Given the description of an element on the screen output the (x, y) to click on. 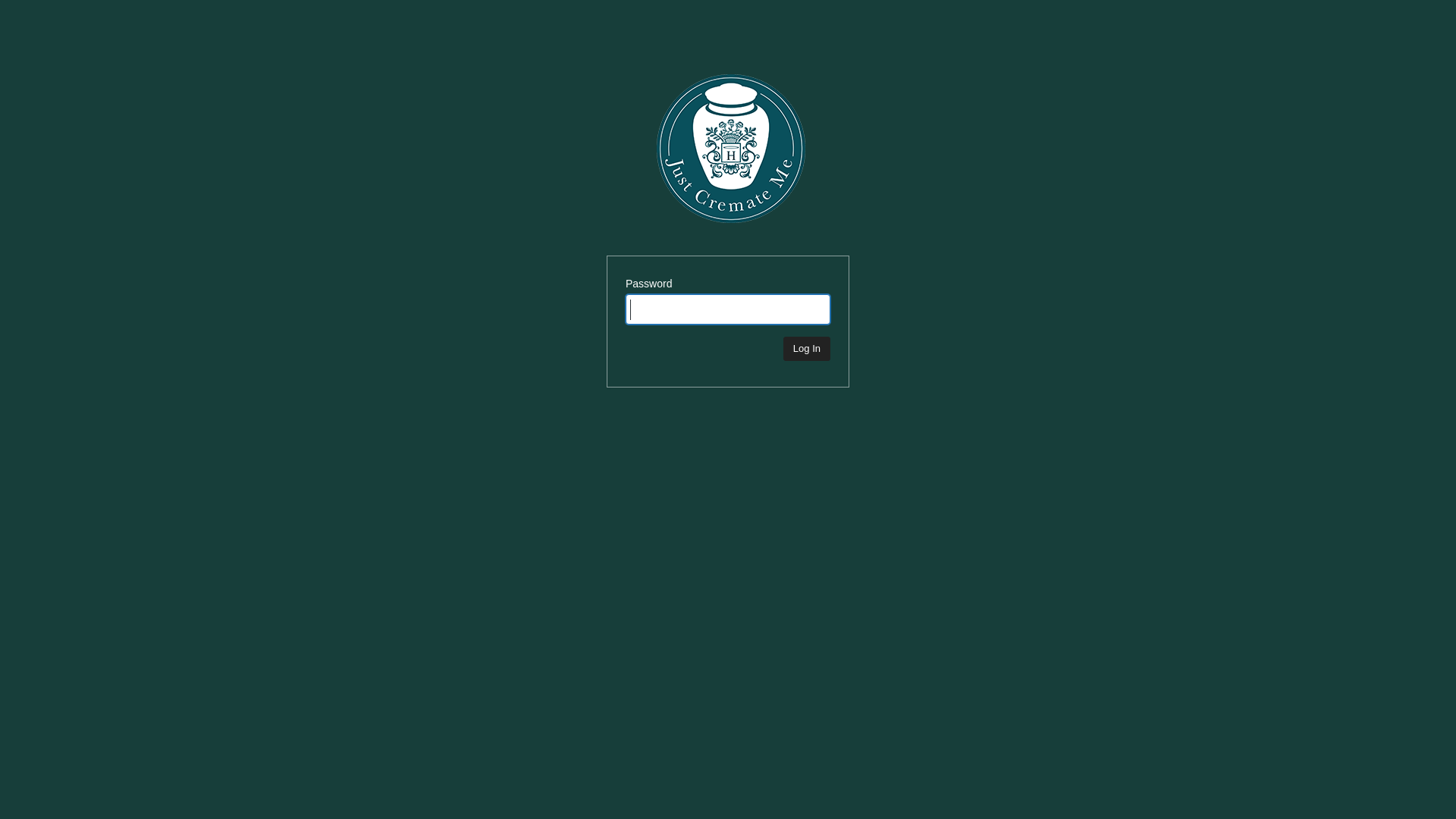
Just Cremate Me Element type: text (730, 154)
Log In Element type: text (806, 348)
